Given the description of an element on the screen output the (x, y) to click on. 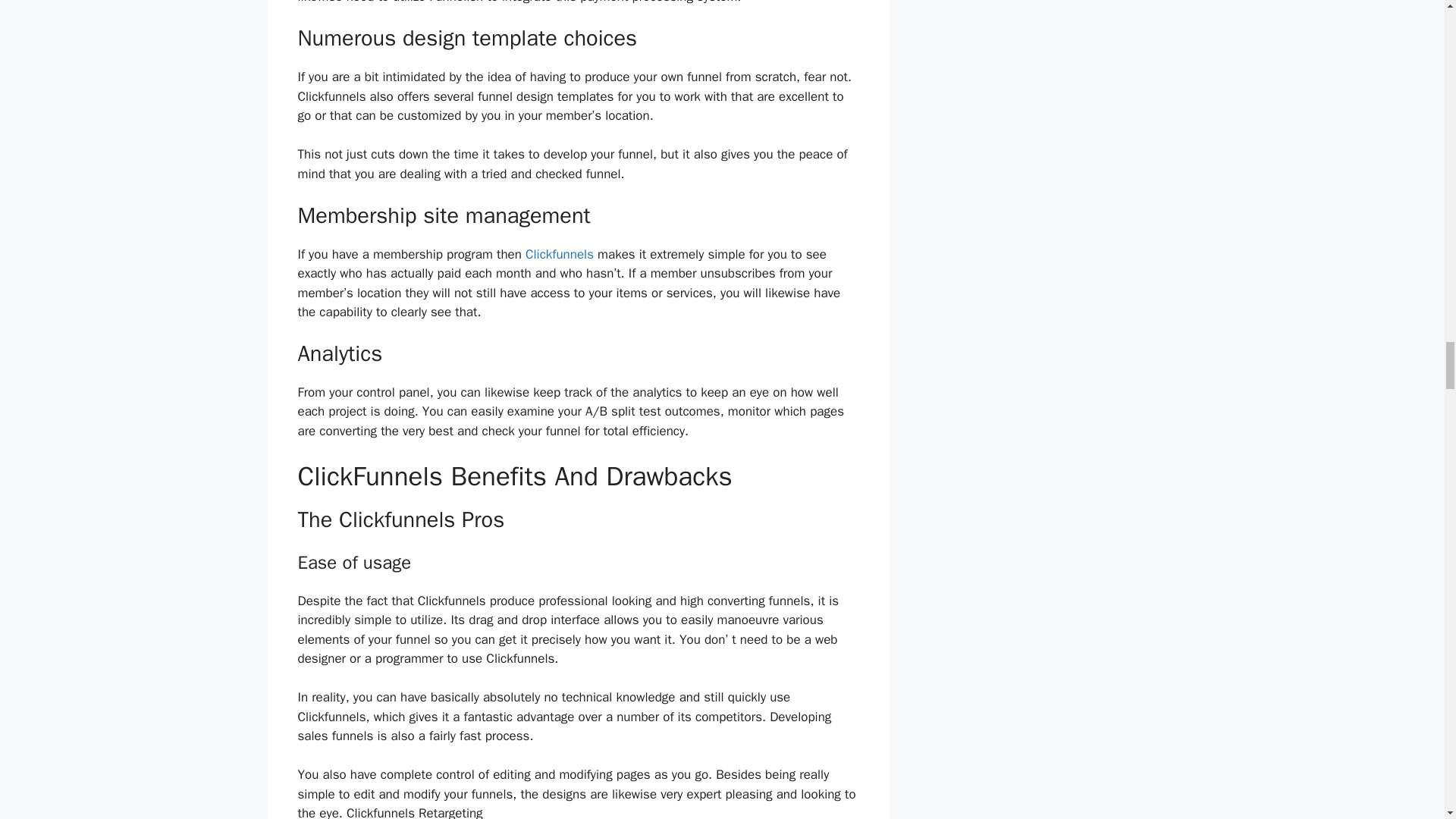
Clickfunnels (559, 254)
